Given the description of an element on the screen output the (x, y) to click on. 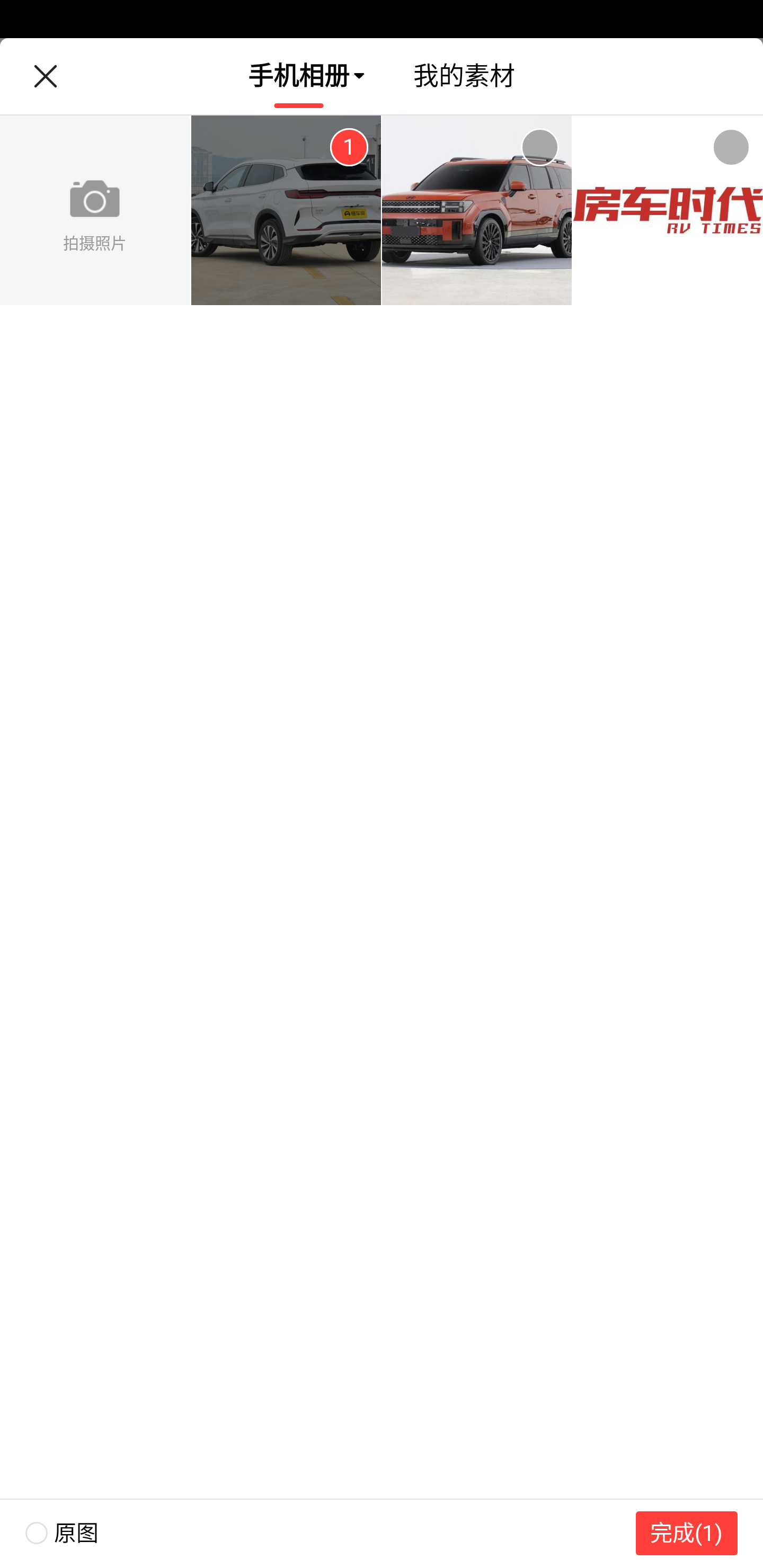
返回 (44, 75)
手机相册 (298, 75)
我的素材 (464, 75)
拍摄照片 (94, 210)
图片1 (285, 210)
已选中1 1 (348, 147)
图片2 (476, 210)
未选中 (539, 147)
图片3 (668, 210)
未选中 (731, 147)
原图 (49, 1533)
完成(1) 完成 (1) (686, 1533)
